Given the description of an element on the screen output the (x, y) to click on. 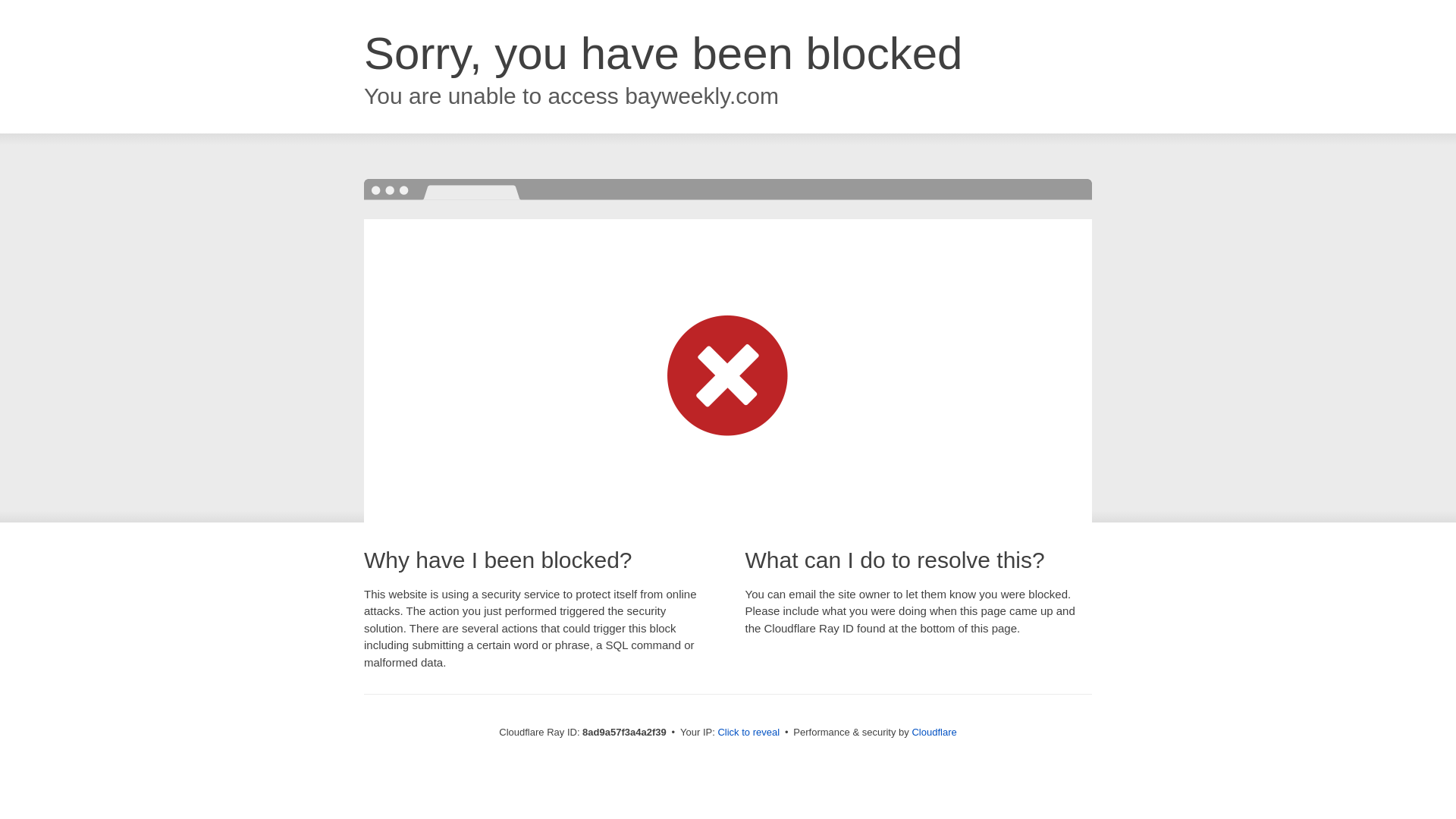
Cloudflare (933, 731)
Click to reveal (747, 732)
